Given the description of an element on the screen output the (x, y) to click on. 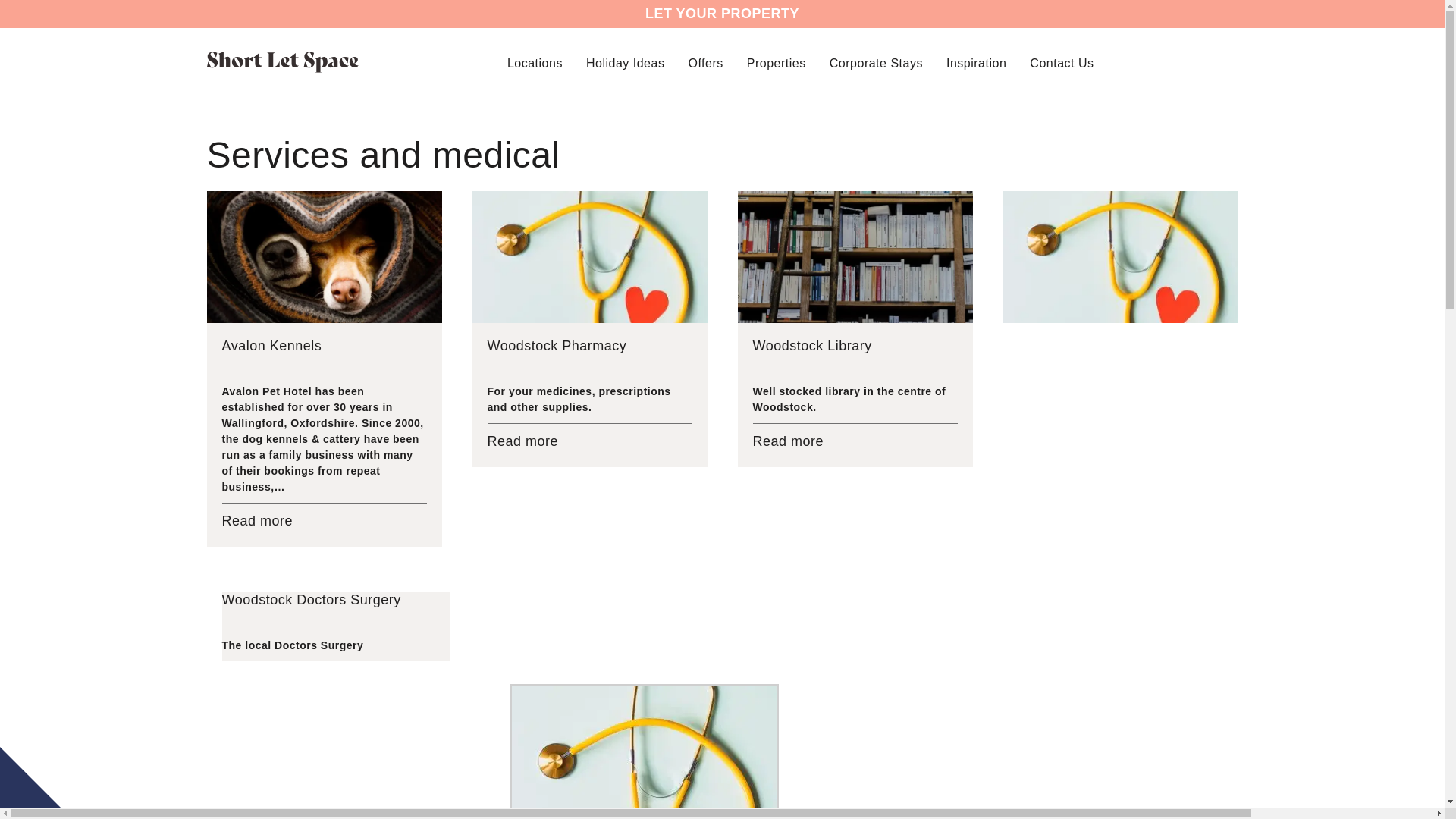
Short Let Space (282, 61)
Holiday Ideas (624, 63)
Locations (534, 63)
LET YOUR PROPERTY (722, 13)
